Given the description of an element on the screen output the (x, y) to click on. 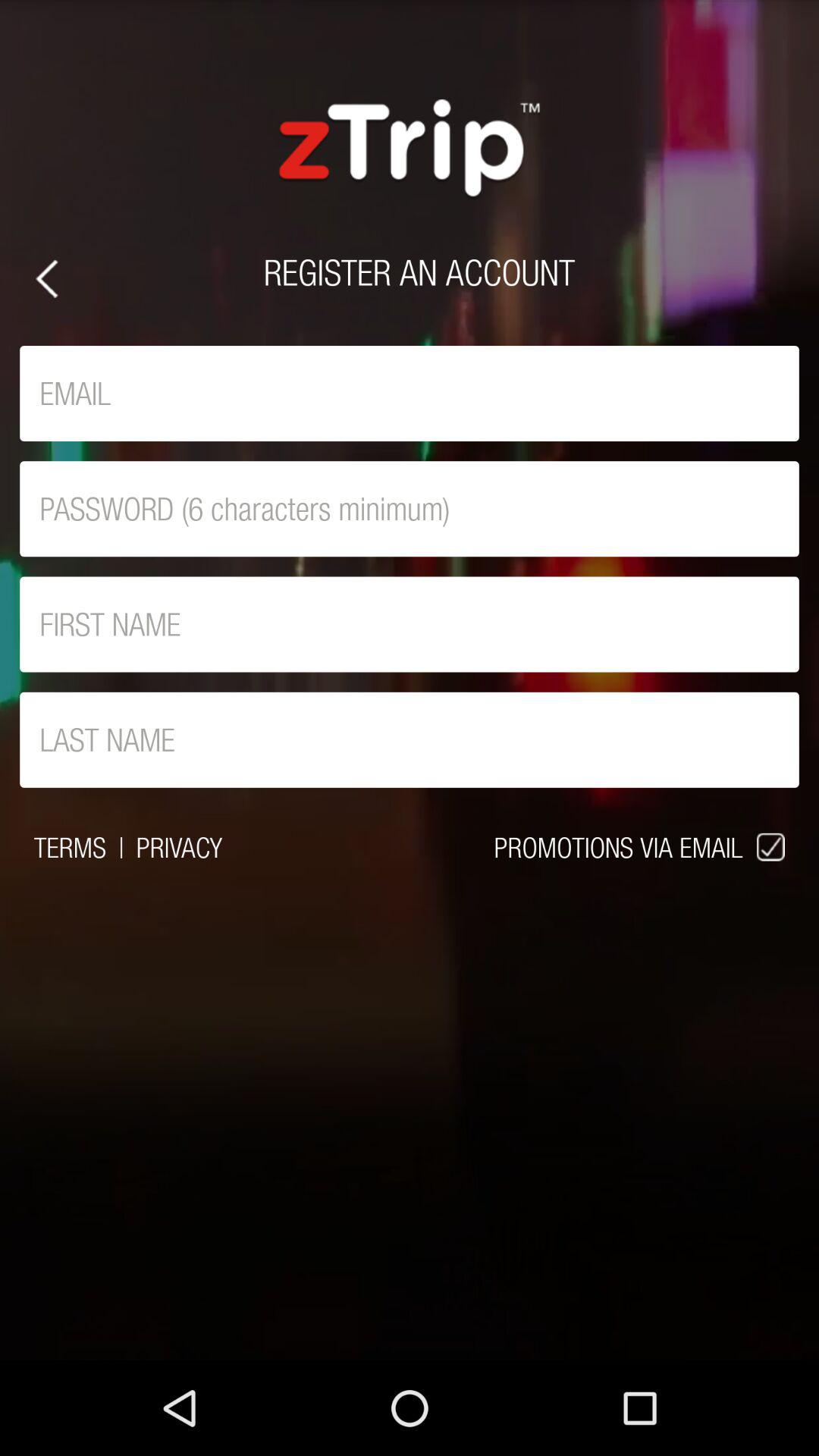
choose the item to the right of | icon (179, 847)
